Given the description of an element on the screen output the (x, y) to click on. 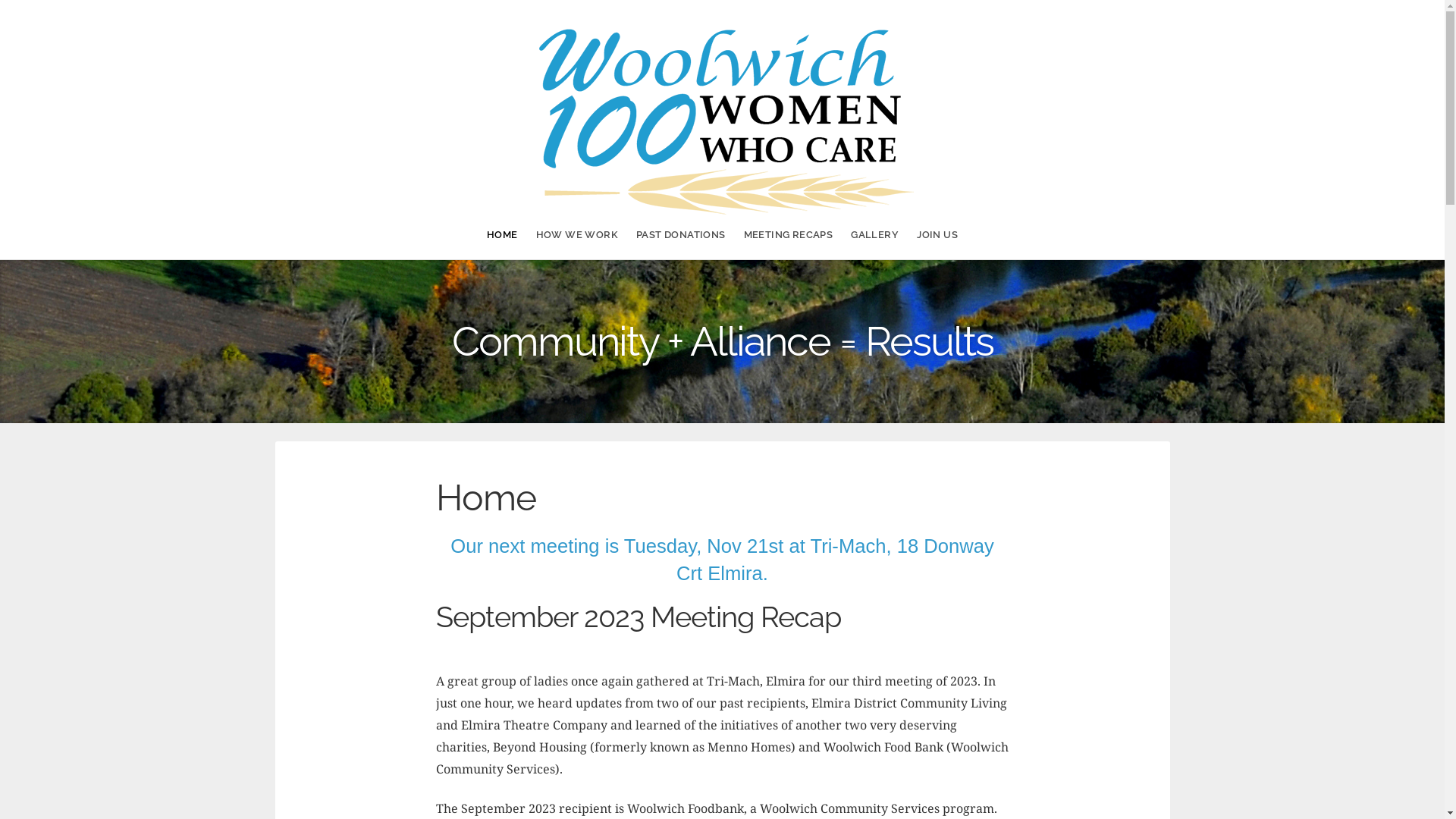
HOW WE WORK Element type: text (577, 234)
JOIN US Element type: text (936, 234)
HOME Element type: text (501, 234)
MEETING RECAPS Element type: text (788, 234)
PAST DONATIONS Element type: text (680, 234)
GALLERY Element type: text (874, 234)
